Given the description of an element on the screen output the (x, y) to click on. 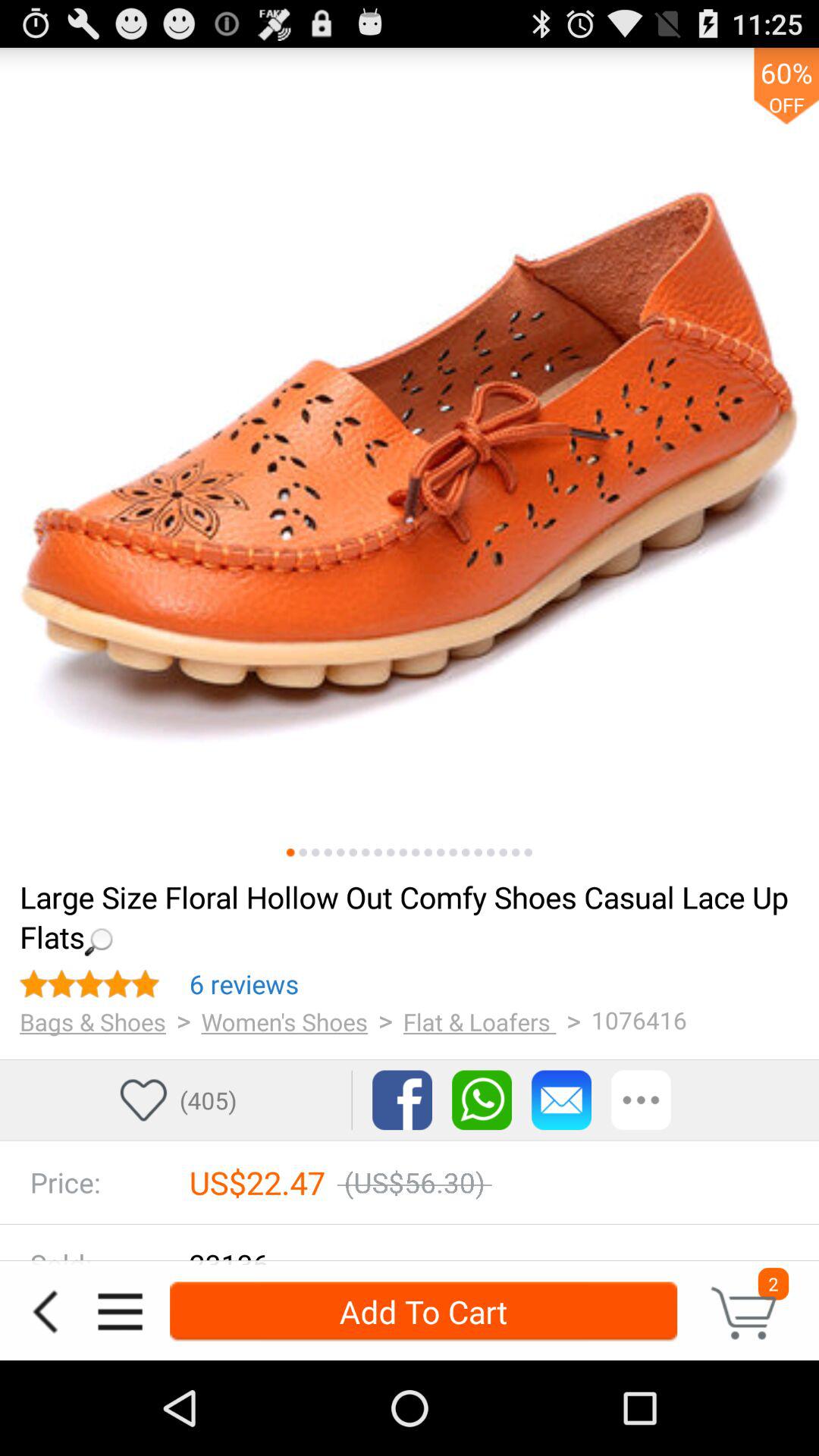
open different picture (403, 852)
